Given the description of an element on the screen output the (x, y) to click on. 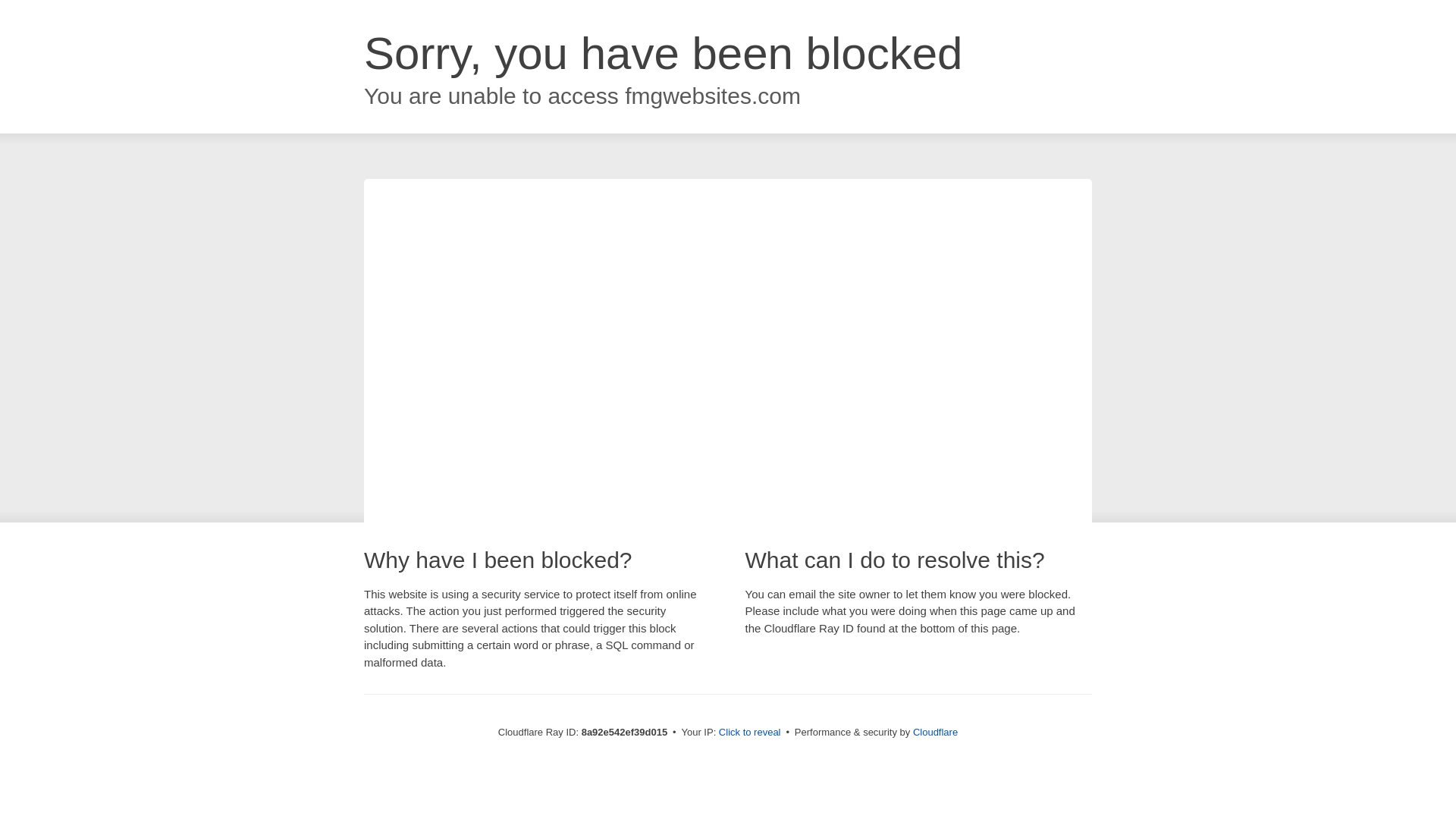
Cloudflare (935, 731)
Click to reveal (749, 732)
